Given the description of an element on the screen output the (x, y) to click on. 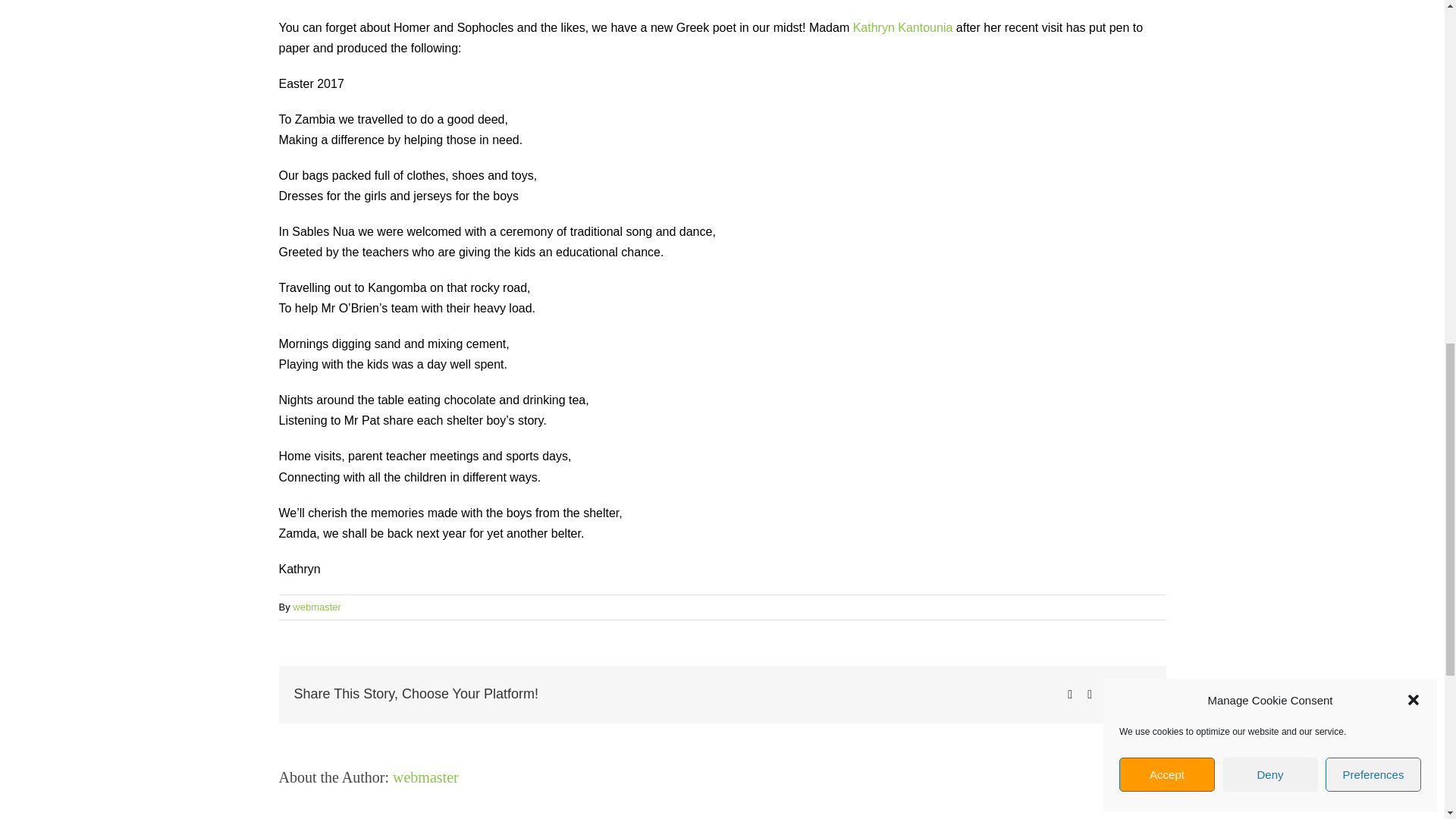
webmaster (316, 606)
Posts by webmaster (425, 777)
Posts by webmaster (316, 606)
Kathryn Kantounia (903, 27)
